Given the description of an element on the screen output the (x, y) to click on. 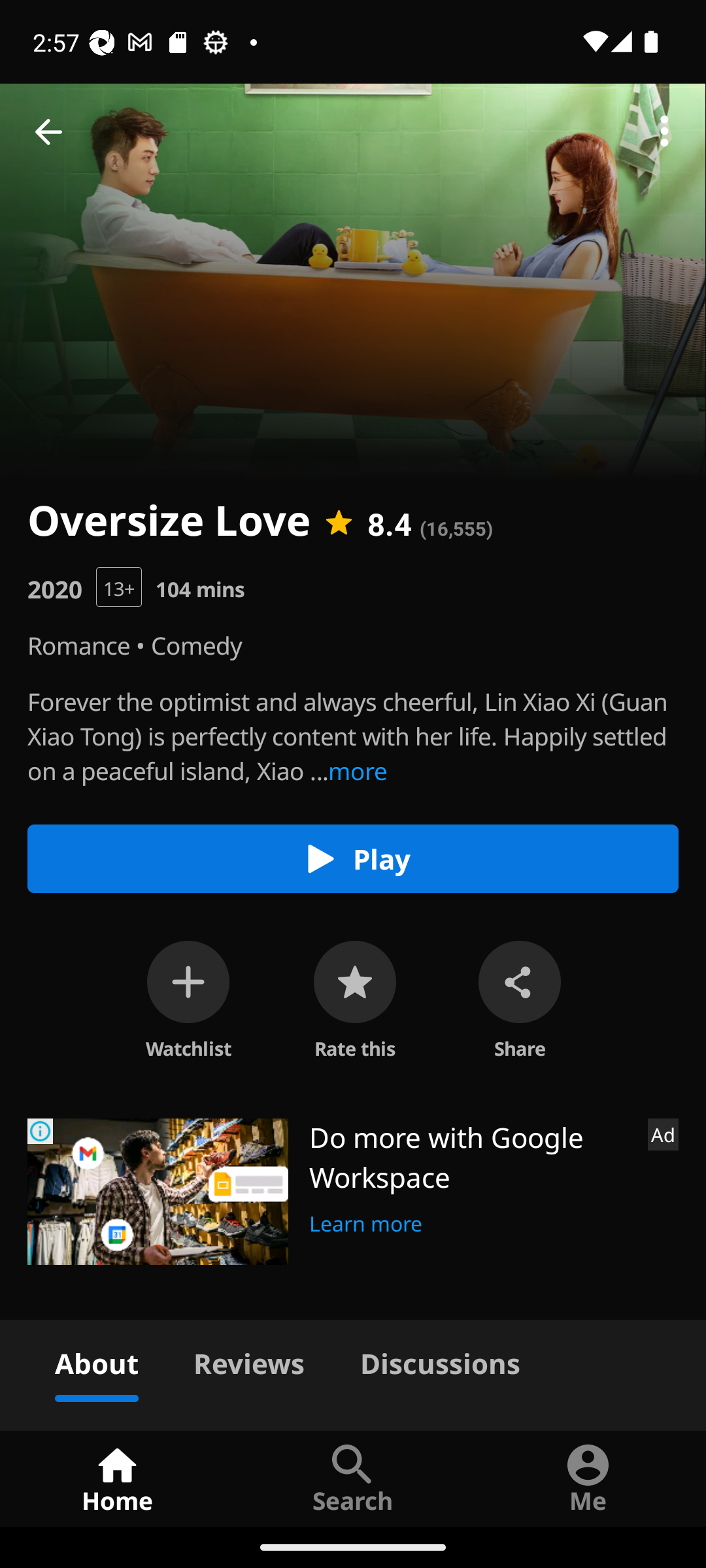
More (664, 131)
off (187, 981)
Ad Choices Icon (39, 1130)
Do more with Google Workspace (471, 1155)
Learn more (365, 1221)
Reviews (248, 1360)
Discussions (439, 1360)
Search (352, 1478)
Me (588, 1478)
